Given the description of an element on the screen output the (x, y) to click on. 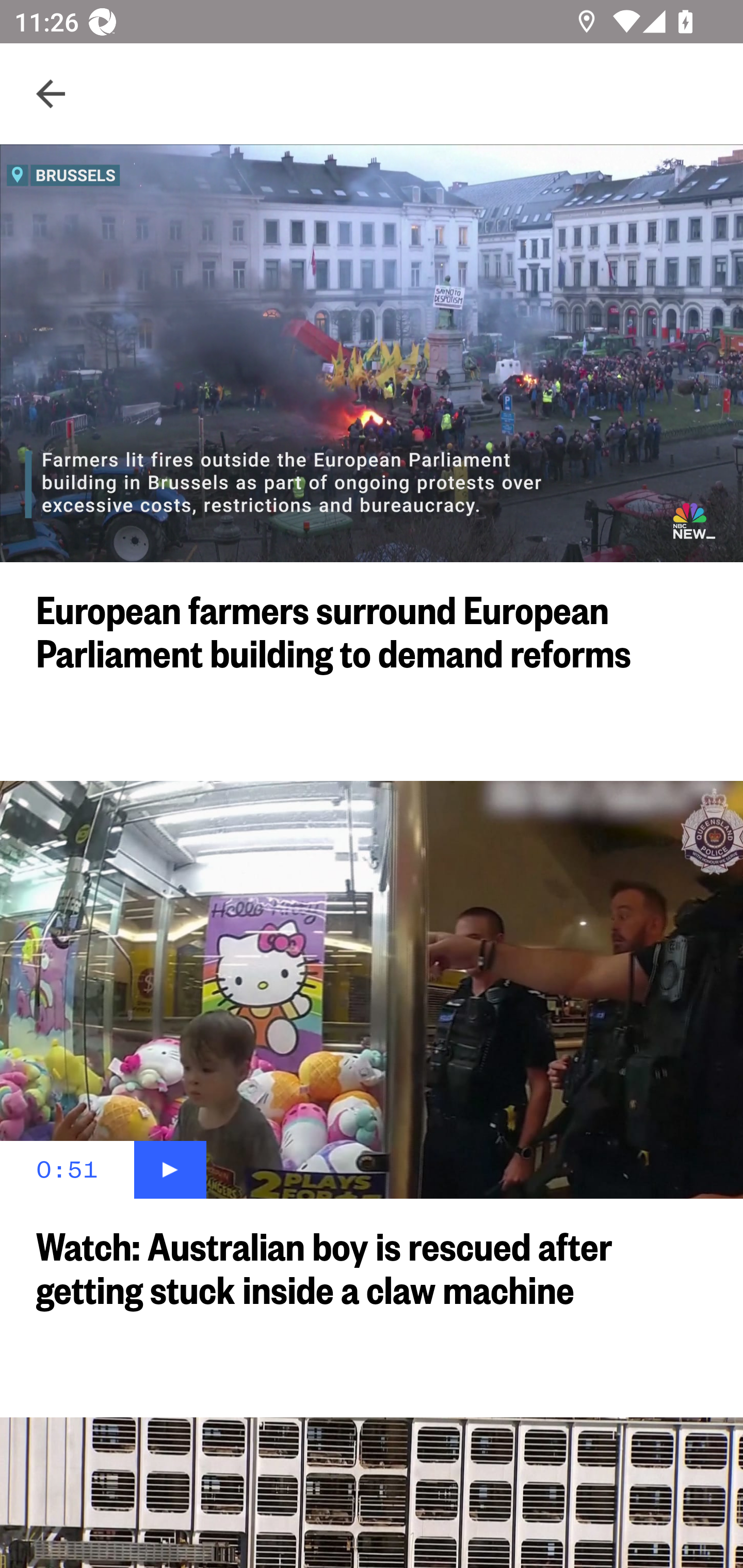
Navigate up (50, 93)
